Given the description of an element on the screen output the (x, y) to click on. 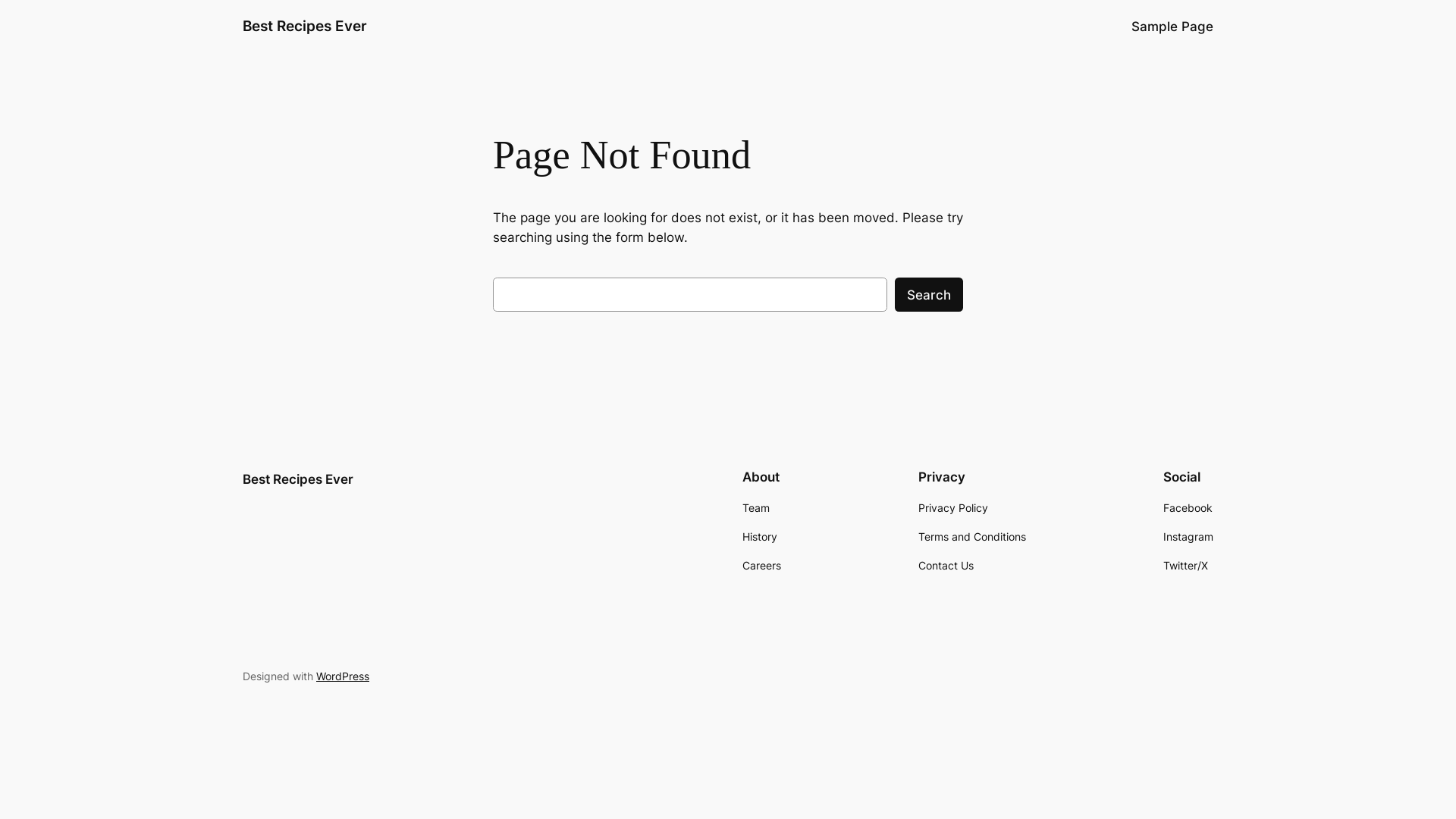
WordPress Element type: text (342, 675)
Careers Element type: text (761, 565)
Team Element type: text (755, 507)
Sample Page Element type: text (1172, 26)
Facebook Element type: text (1187, 507)
Search Element type: text (928, 294)
Best Recipes Ever Element type: text (304, 25)
Privacy Policy Element type: text (953, 507)
Terms and Conditions Element type: text (972, 536)
Best Recipes Ever Element type: text (297, 478)
Instagram Element type: text (1188, 536)
Twitter/X Element type: text (1185, 565)
History Element type: text (759, 536)
Contact Us Element type: text (945, 565)
